Given the description of an element on the screen output the (x, y) to click on. 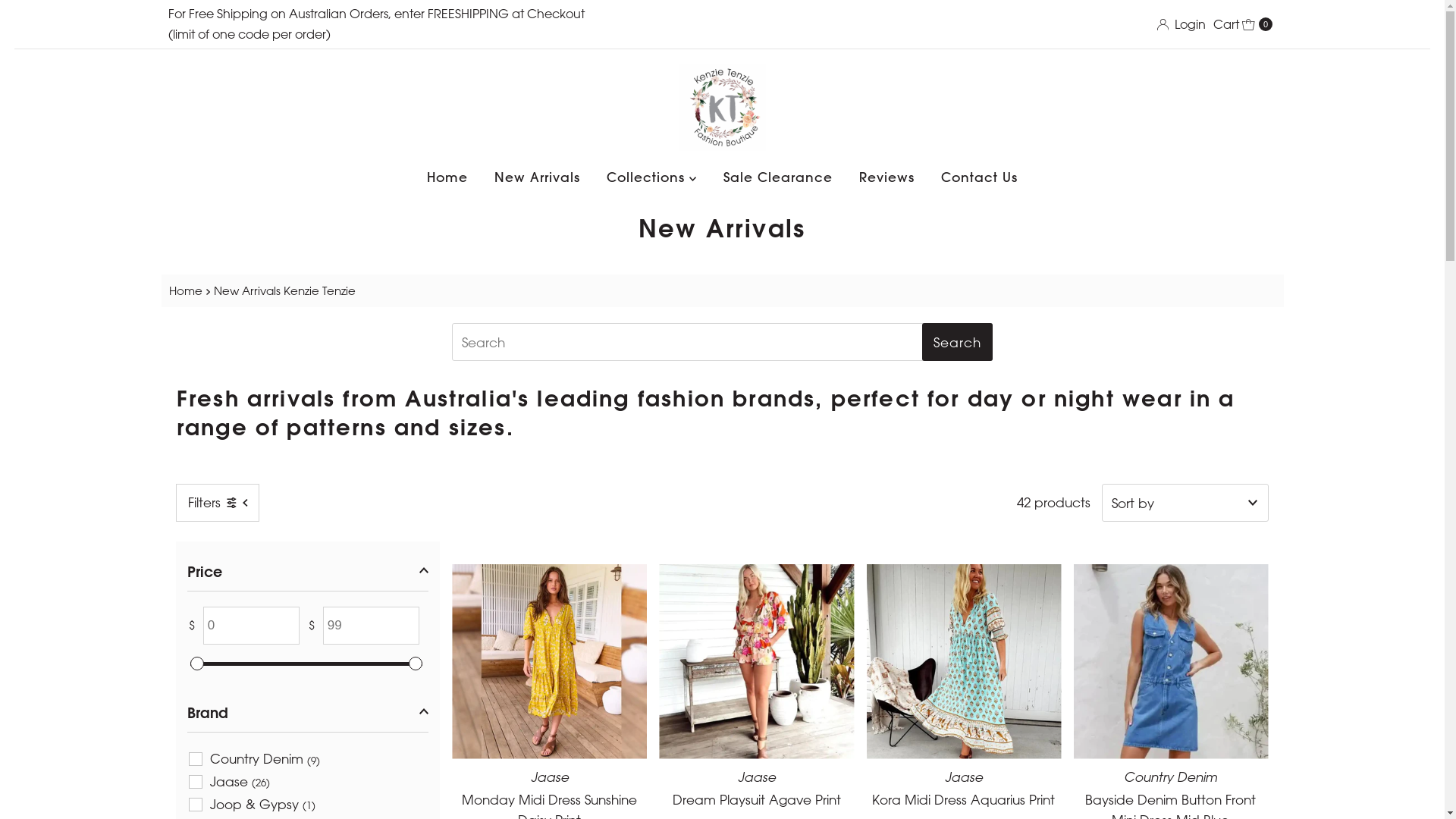
Price Element type: text (307, 571)
Sale Clearance Element type: text (777, 177)
Reviews Element type: text (886, 177)
Home Element type: text (186, 290)
Search Element type: text (957, 341)
Filters Element type: text (217, 502)
Country Denim (9) Element type: text (254, 758)
Joop & Gypsy (1) Element type: text (251, 803)
New Arrivals Element type: text (537, 177)
Home Element type: text (447, 177)
Jaase
Kora Midi Dress Aquarius Print Element type: text (963, 787)
Contact Us Element type: text (979, 177)
Jaase (26) Element type: text (228, 780)
Jaase
Dream Playsuit Agave Print Element type: text (756, 787)
  Login Element type: text (1181, 24)
Cart 
0 Element type: text (1242, 24)
Brand Element type: text (307, 712)
